Given the description of an element on the screen output the (x, y) to click on. 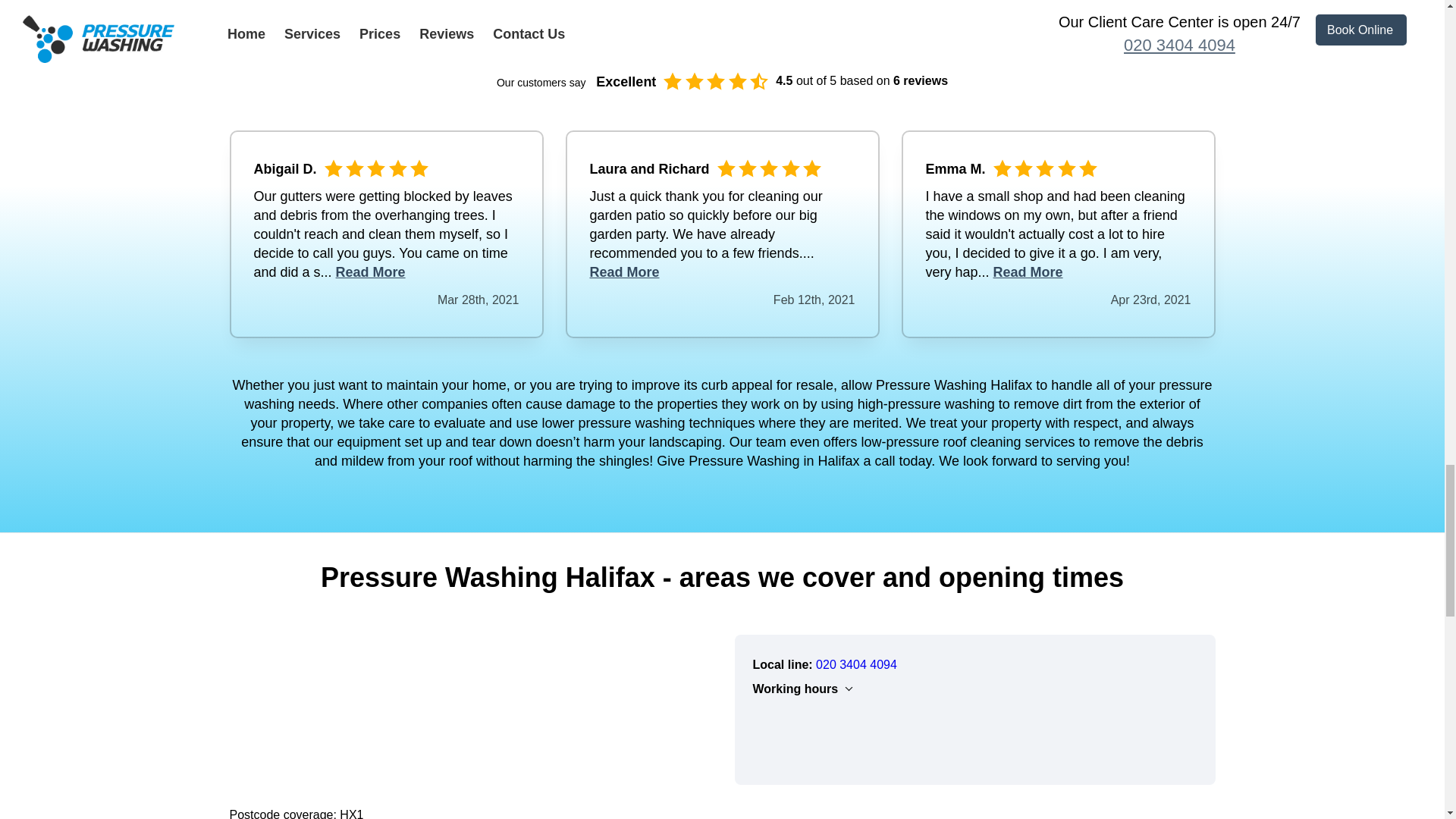
020 3404 4094 (855, 664)
Call Pressure Washing in Halifax (855, 664)
Halifax map location (469, 708)
